Given the description of an element on the screen output the (x, y) to click on. 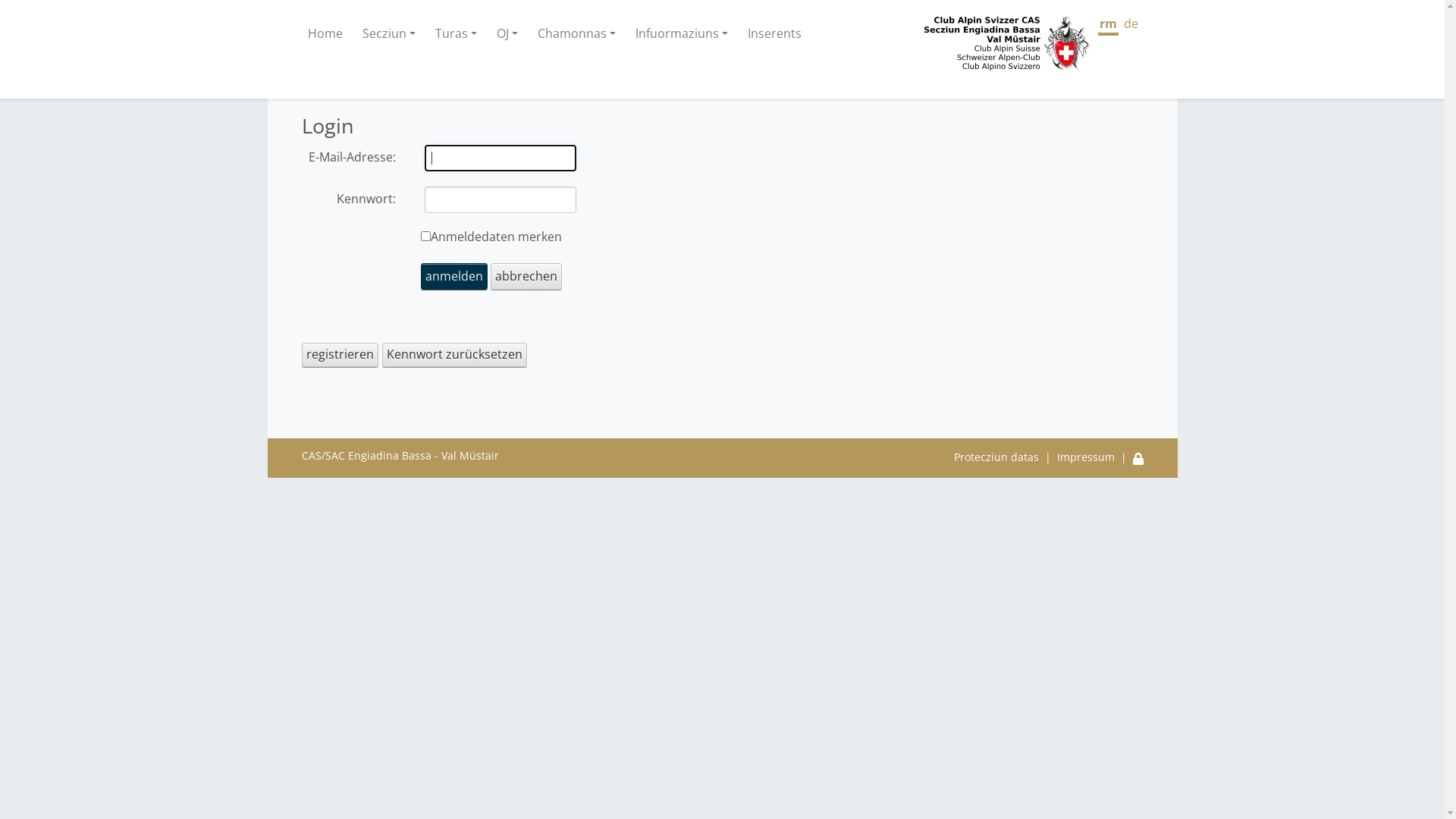
registrieren Element type: text (339, 354)
Inserents Element type: text (774, 32)
Infuormaziuns Element type: text (681, 32)
Login (s'annunzchar o registrar) Element type: hover (1137, 456)
OJ Element type: text (507, 32)
Skip to main content Element type: text (0, 91)
Secziun Element type: text (388, 32)
abbrechen Element type: text (525, 276)
Protecziun datas Element type: text (995, 456)
Chamonnas Element type: text (576, 32)
Impressum Element type: text (1085, 456)
anmelden Element type: text (453, 276)
rm Element type: text (1108, 25)
de Element type: text (1130, 25)
Turas Element type: text (456, 32)
Home Element type: text (324, 32)
